Given the description of an element on the screen output the (x, y) to click on. 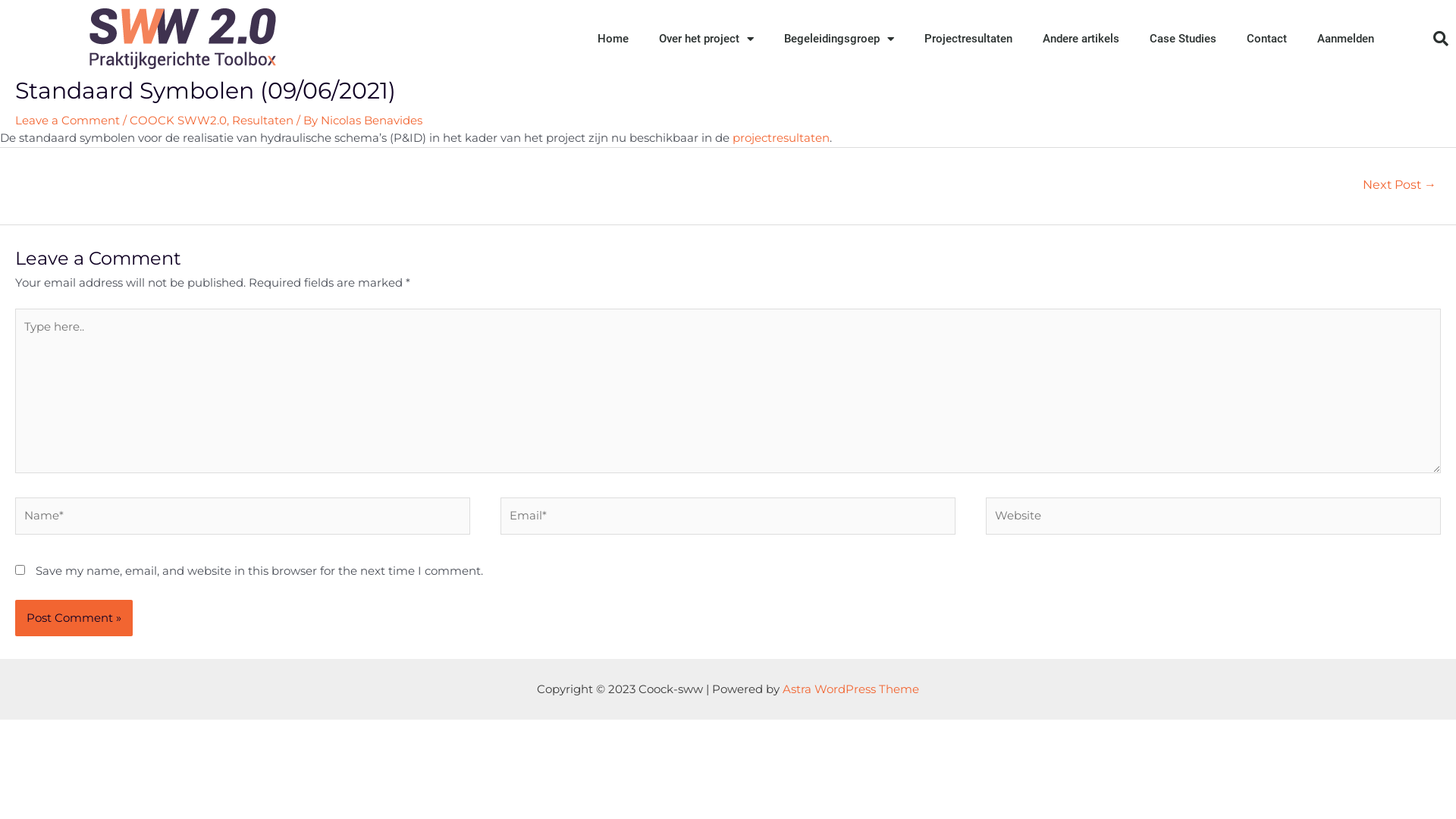
Aanmelden Element type: text (1345, 38)
Over het project Element type: text (705, 38)
Home Element type: text (612, 38)
Projectresultaten Element type: text (968, 38)
Begeleidingsgroep Element type: text (838, 38)
projectresultaten Element type: text (780, 137)
Contact Element type: text (1266, 38)
COOCK SWW2.0 Element type: text (177, 119)
Case Studies Element type: text (1182, 38)
Leave a Comment Element type: text (67, 119)
Andere artikels Element type: text (1080, 38)
SWW20_V04_03 Element type: hover (181, 38)
Resultaten Element type: text (262, 119)
Nicolas Benavides Element type: text (371, 119)
Astra WordPress Theme Element type: text (850, 688)
